Given the description of an element on the screen output the (x, y) to click on. 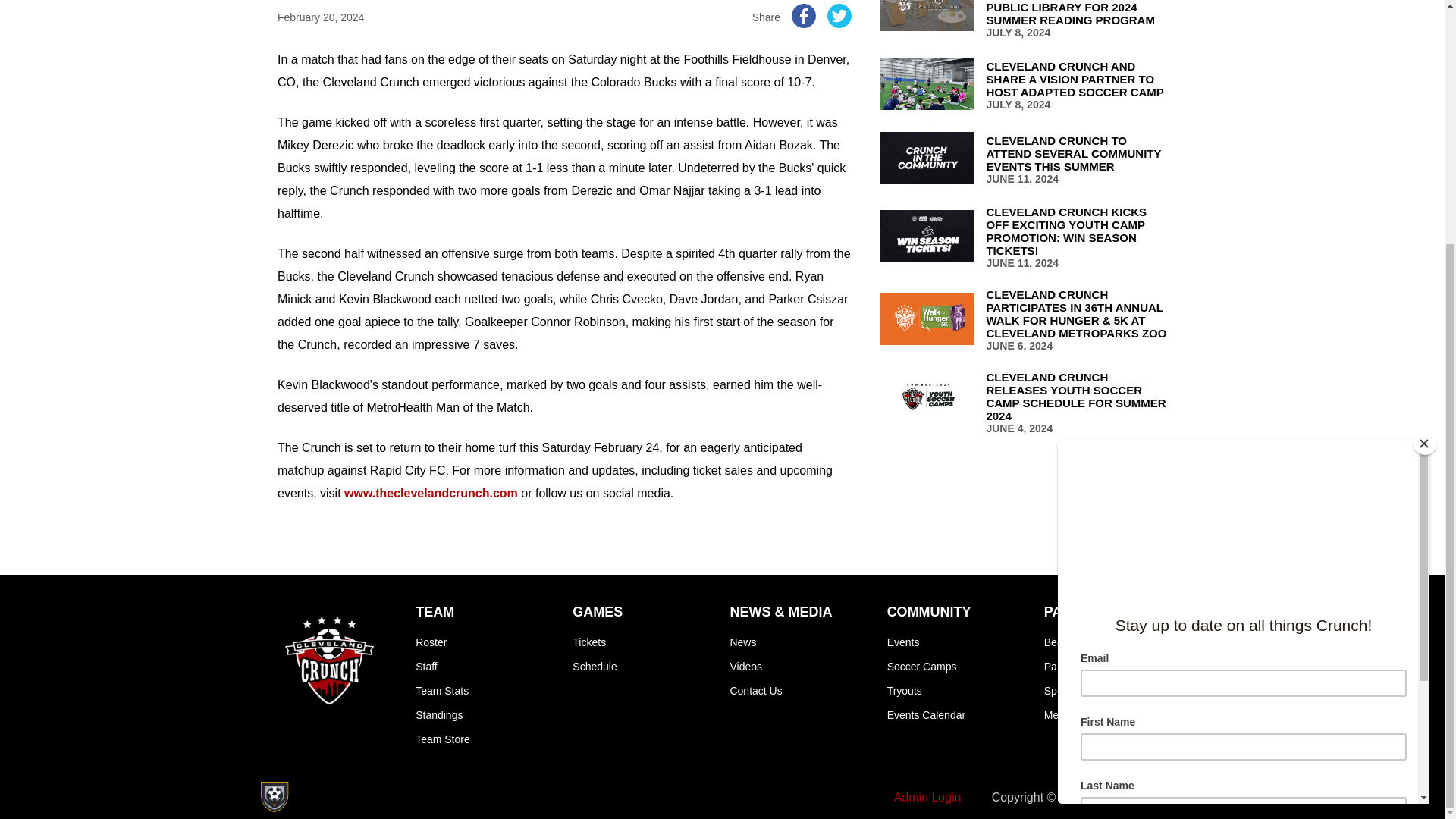
Powered by SoccerShift (273, 797)
www.theclevelandcrunch.com (430, 492)
